Given the description of an element on the screen output the (x, y) to click on. 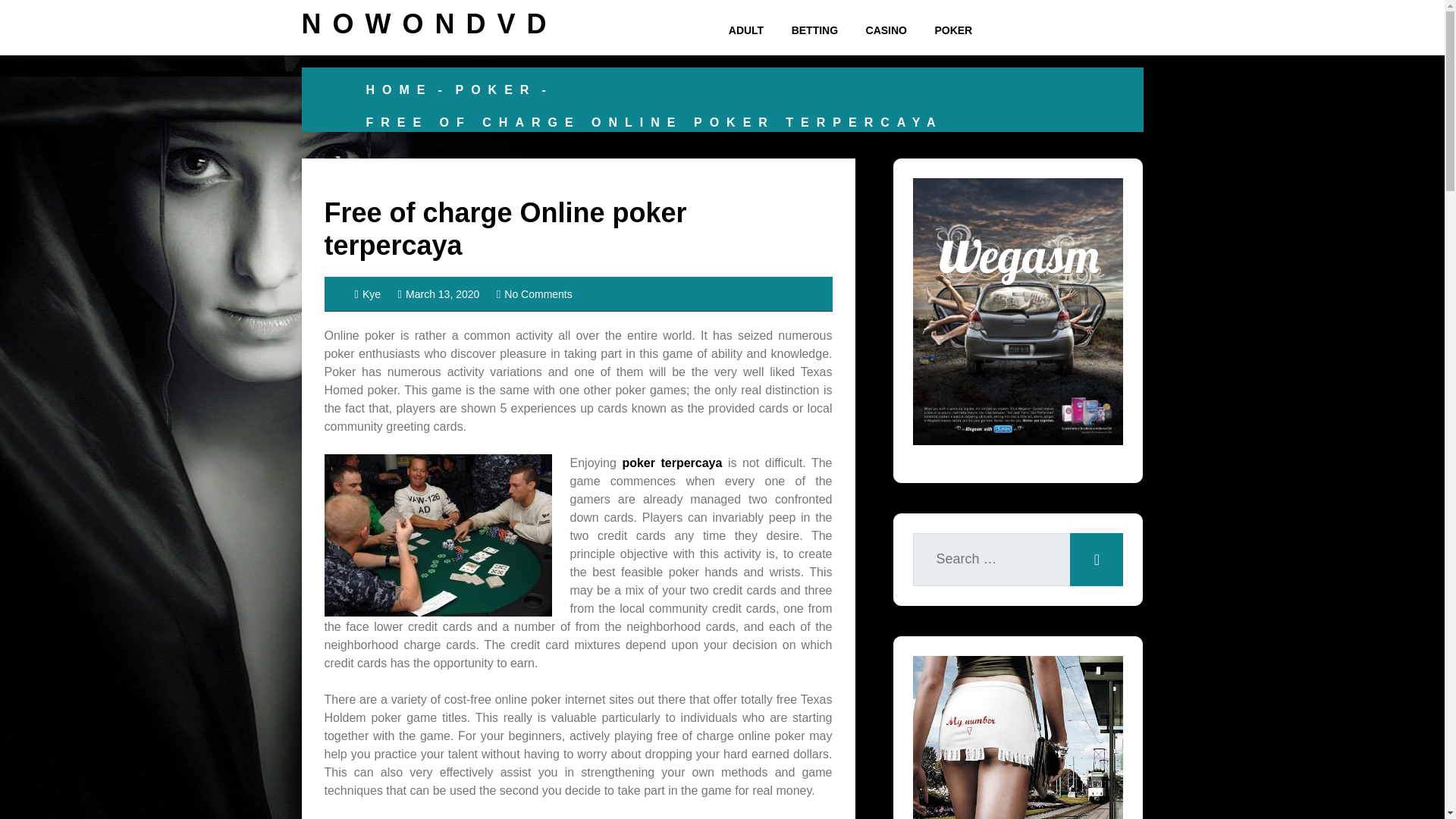
No Comments (534, 294)
BETTING (814, 30)
ADULT (746, 30)
POKER (952, 30)
POKER (494, 90)
HOME (398, 90)
NOWONDVD (429, 23)
Free of charge Online poker terpercaya (505, 229)
March 13, 2020 (438, 294)
CASINO (885, 30)
Kye (368, 294)
poker terpercaya (671, 462)
